Given the description of an element on the screen output the (x, y) to click on. 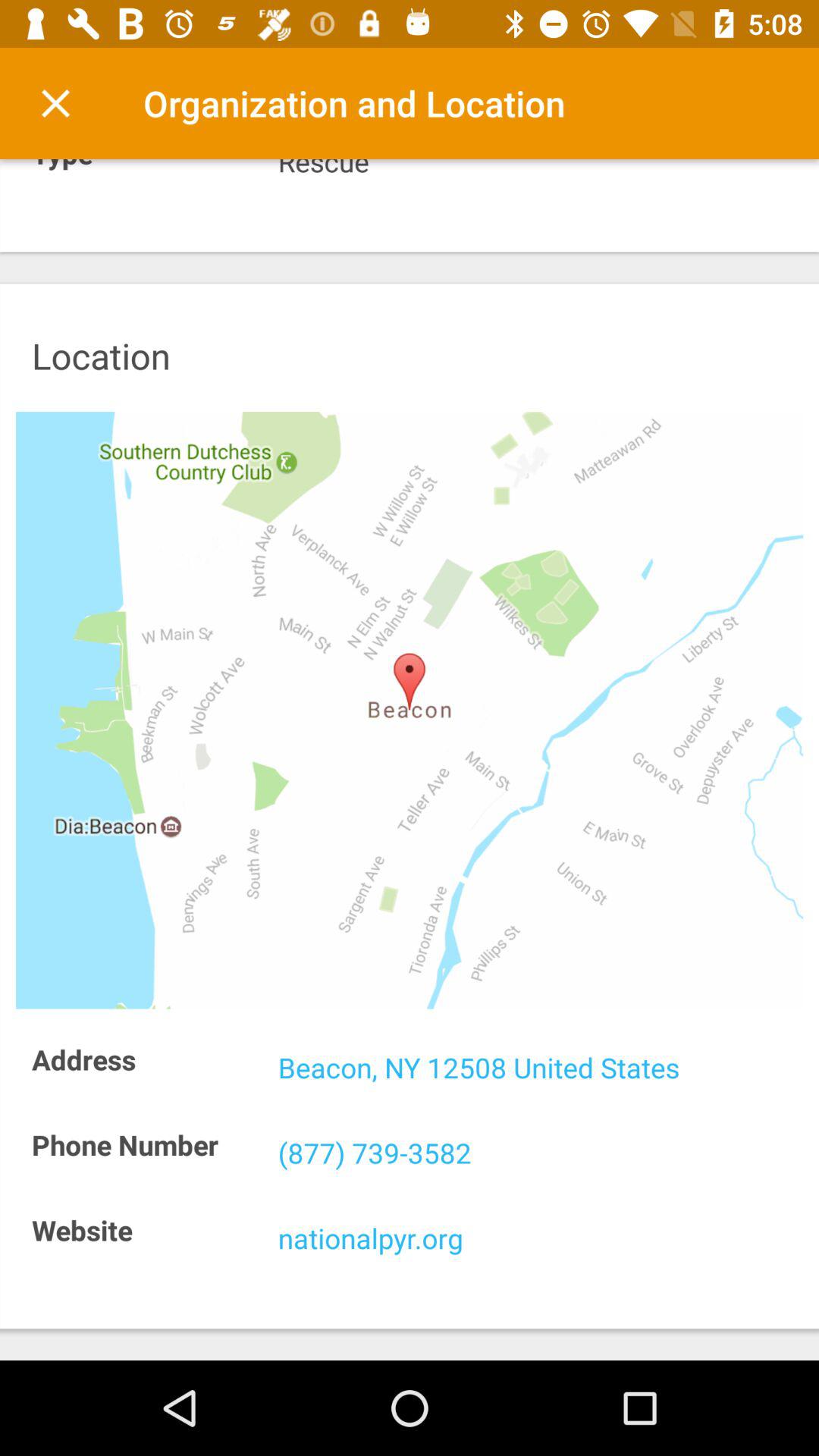
press the icon at the center (409, 709)
